Given the description of an element on the screen output the (x, y) to click on. 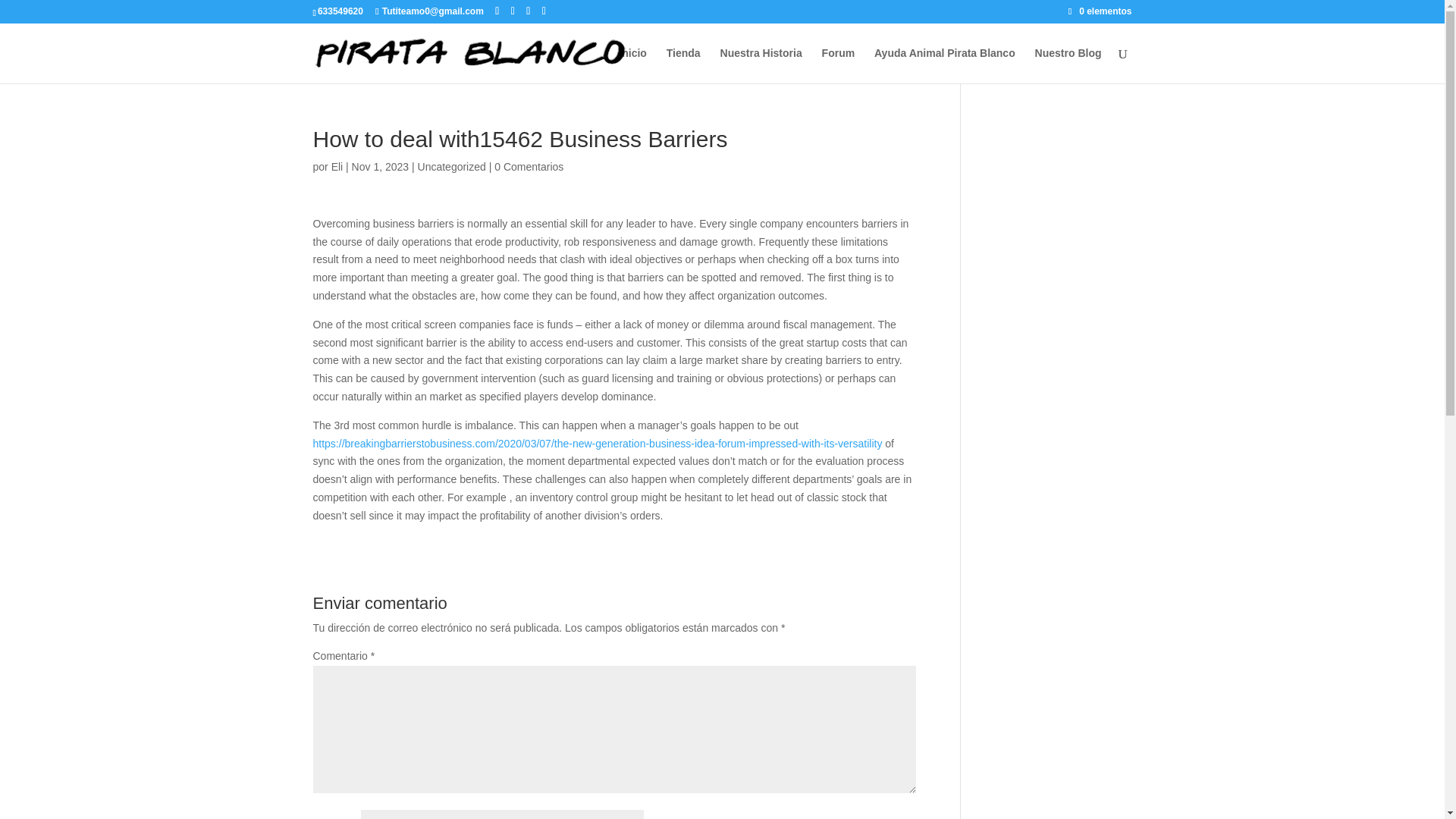
Eli (337, 166)
Forum (839, 65)
Uncategorized (451, 166)
Ayuda Animal Pirata Blanco (944, 65)
Tienda (683, 65)
Nuestro Blog (1068, 65)
Mensajes de Eli (337, 166)
Nuestra Historia (761, 65)
0 Comentarios (529, 166)
0 elementos (1100, 10)
